Given the description of an element on the screen output the (x, y) to click on. 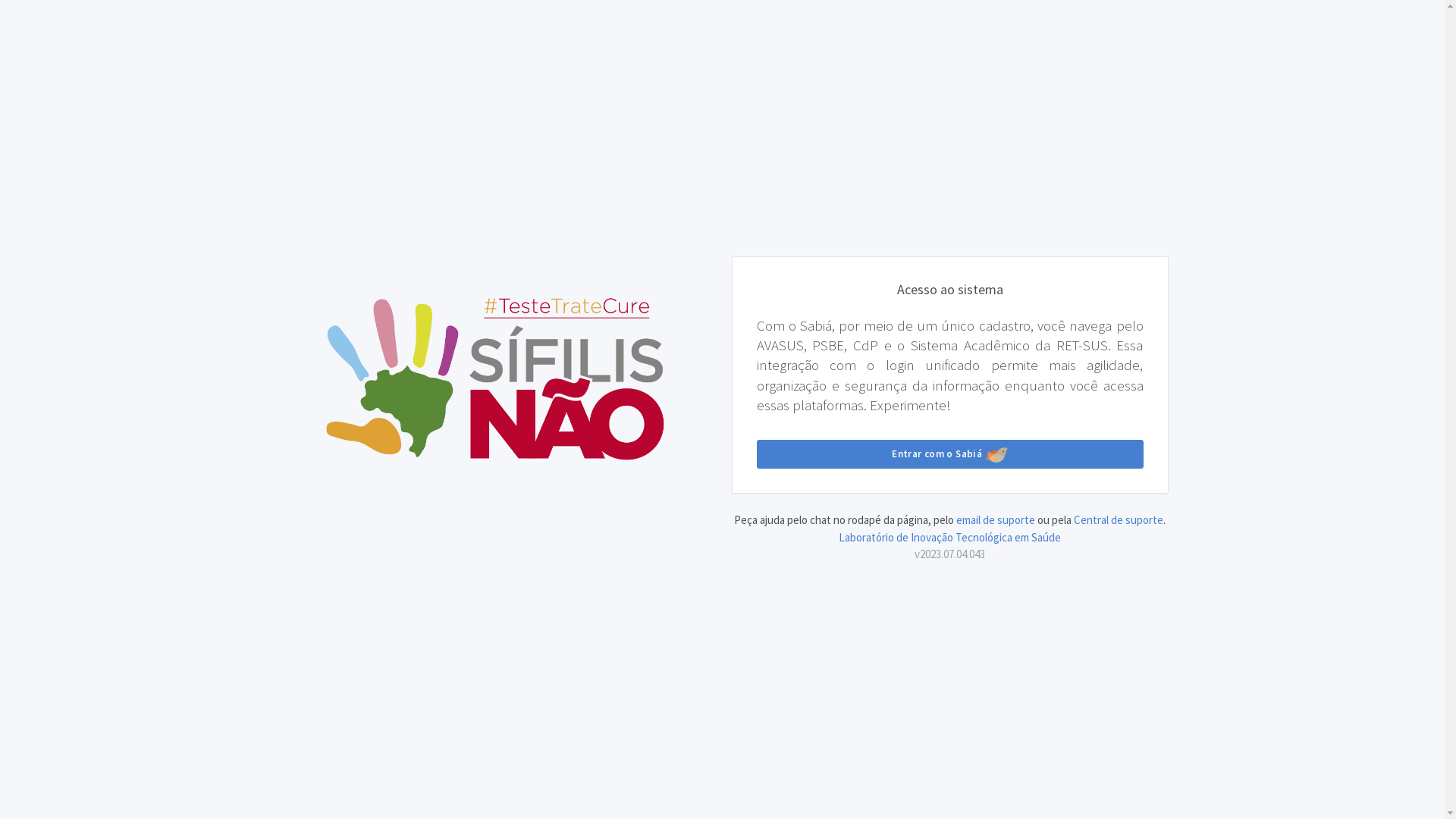
Central de suporte Element type: text (1118, 519)
email de suporte Element type: text (995, 519)
